Given the description of an element on the screen output the (x, y) to click on. 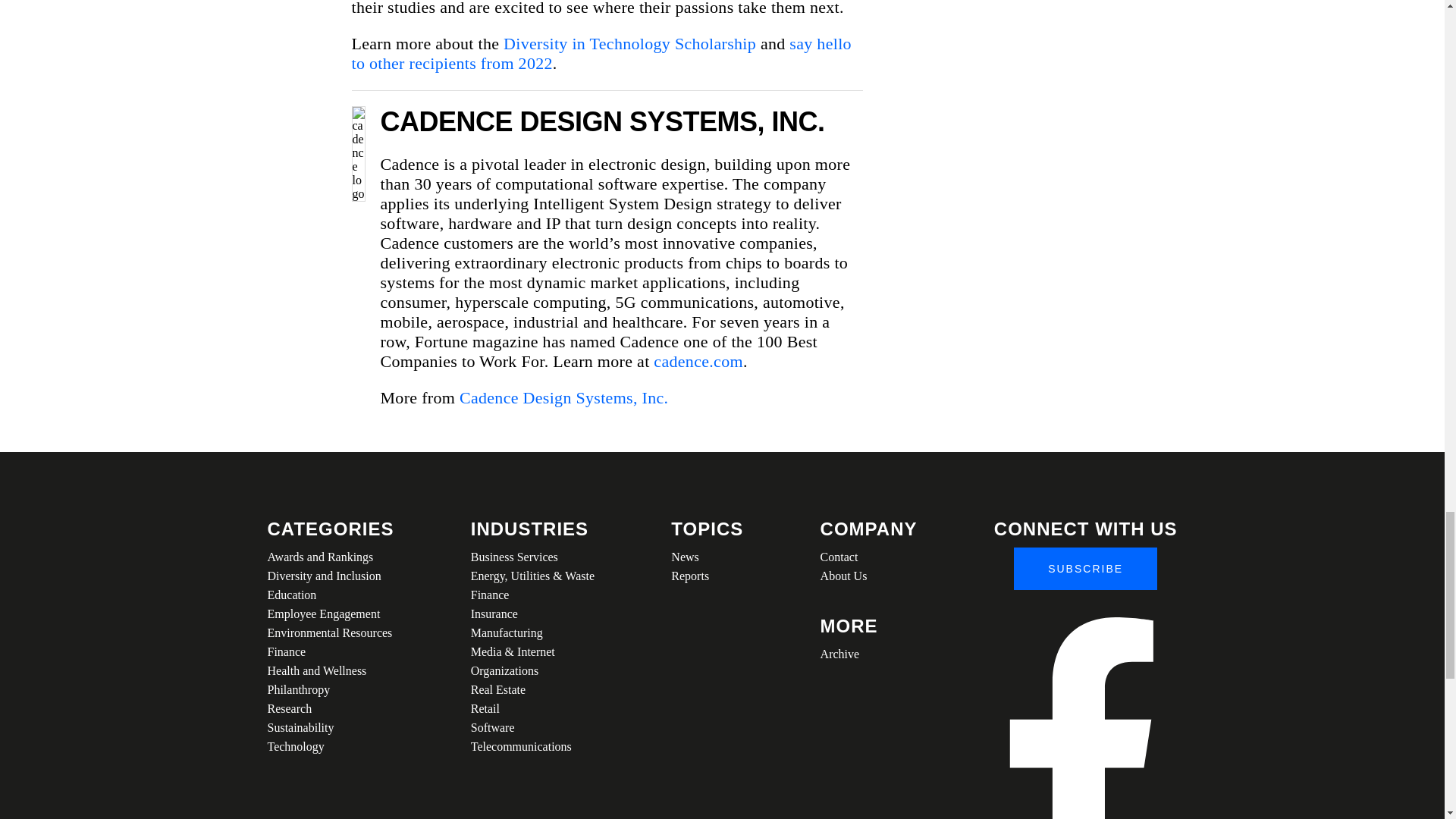
Diversity and Inclusion (329, 575)
Awards and Rankings (329, 556)
say hello to other recipients from 2022 (601, 53)
Diversity in Technology Scholarship (629, 43)
CATEGORIES (329, 528)
Education (329, 594)
cadence.com (697, 361)
Cadence Design Systems, Inc. (564, 397)
